Given the description of an element on the screen output the (x, y) to click on. 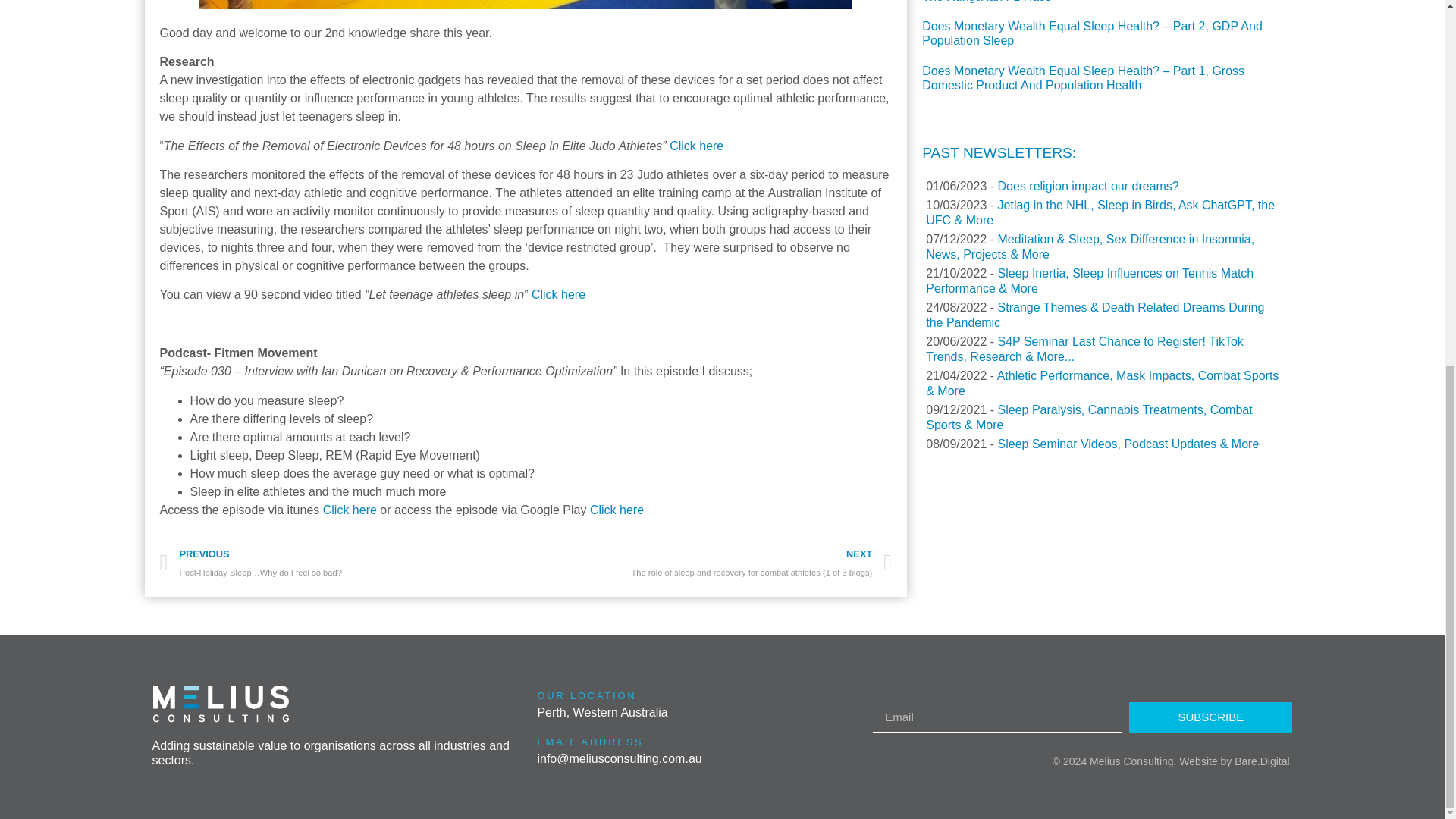
Click here (350, 509)
Does religion impact our dreams? (1088, 185)
Click here (616, 509)
Click here (558, 294)
Does religion impact our dreams? (1088, 185)
Click here (696, 145)
